Given the description of an element on the screen output the (x, y) to click on. 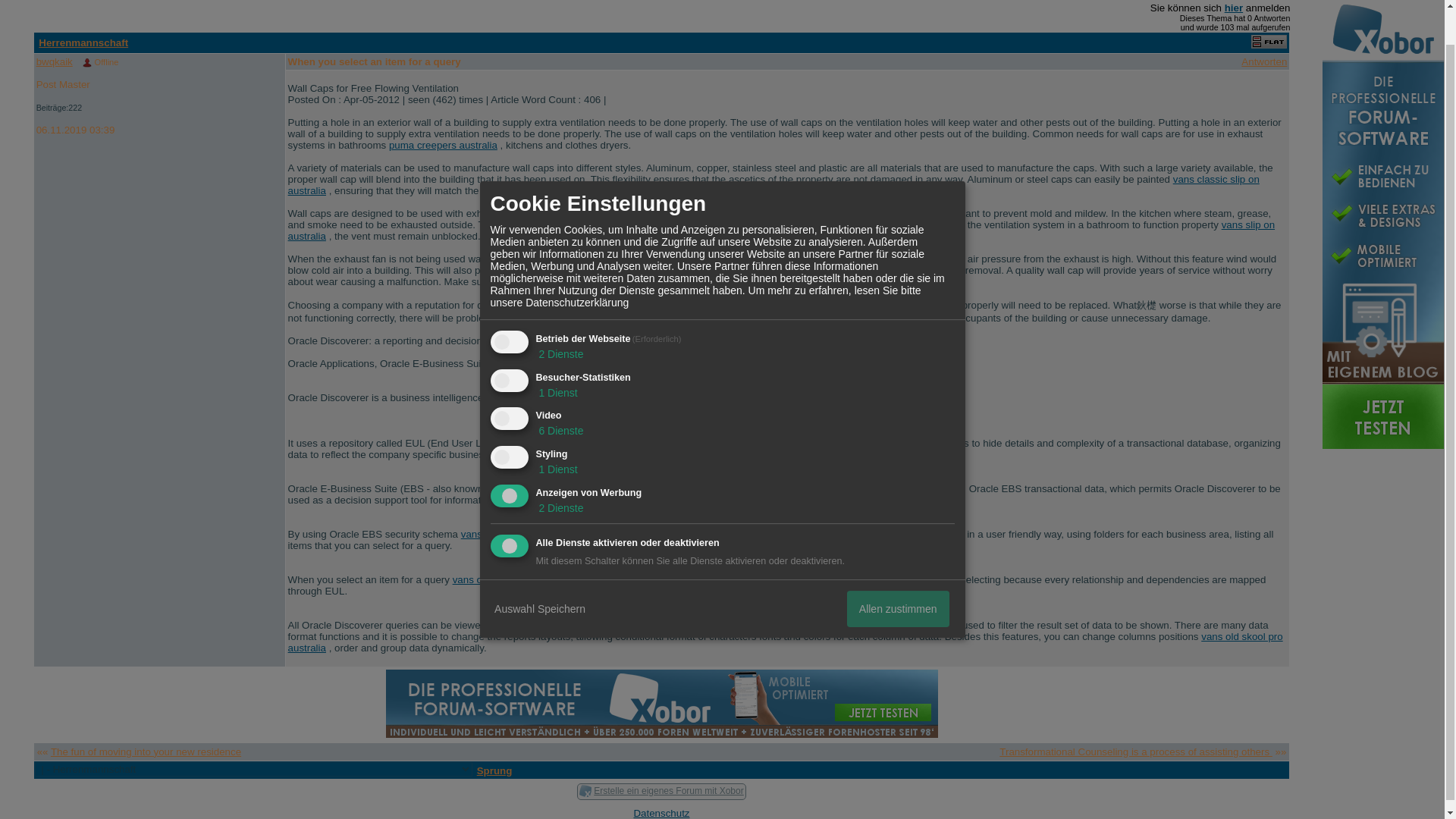
puma creepers australia (442, 144)
Sprung (494, 770)
Herrenmannschaft (83, 42)
vans sk8 hi slim australia (705, 363)
The fun of moving into your new residence (145, 751)
2 Dienste (559, 316)
1 Dienst (555, 431)
Erstelle dein eigenes Forum mit Xobor (661, 703)
vans old skool pink australia (515, 579)
Erstelle ein eigenes Forum mit Xobor (668, 790)
